Given the description of an element on the screen output the (x, y) to click on. 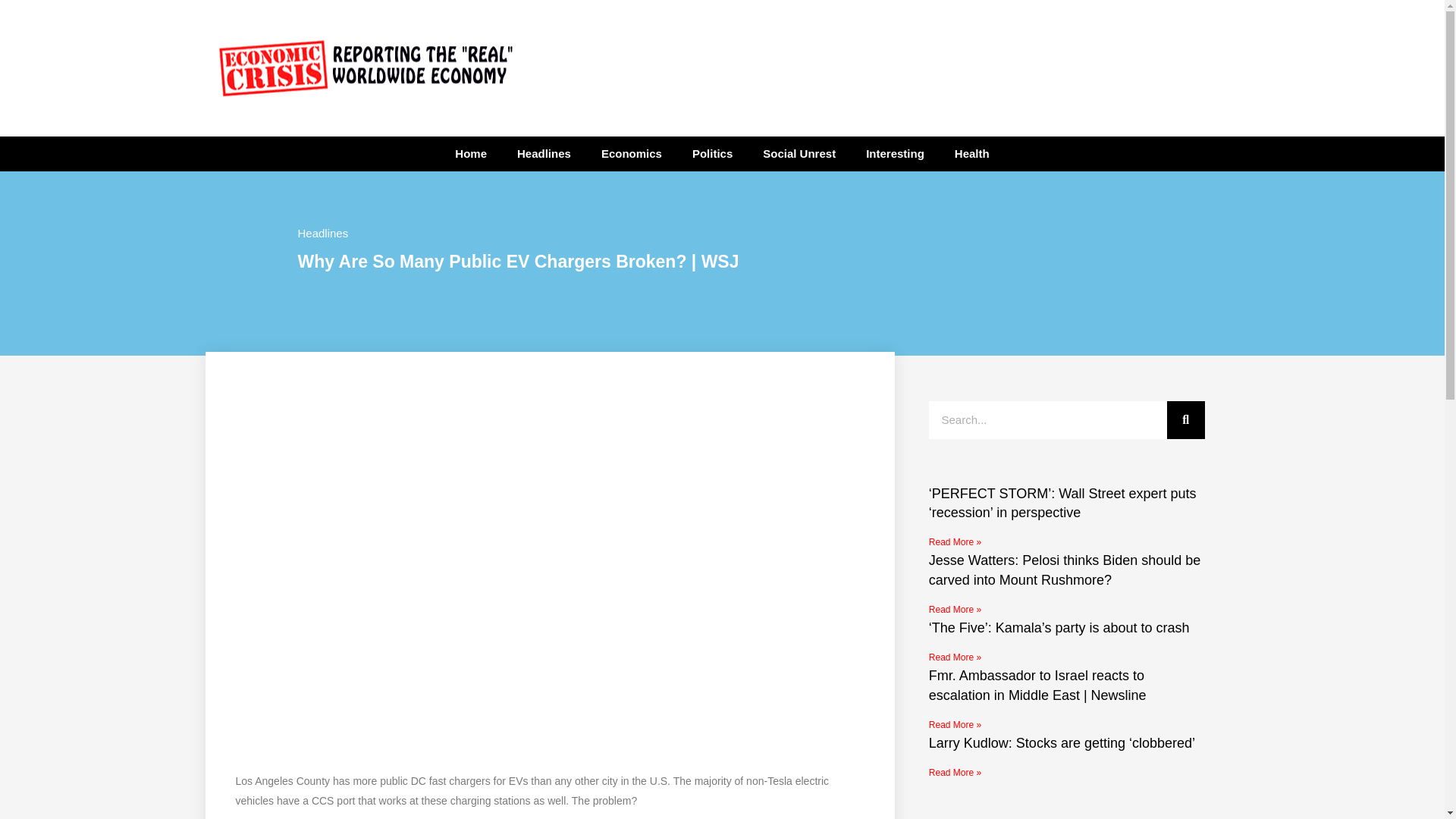
Interesting (894, 153)
Health (971, 153)
Social Unrest (799, 153)
Headlines (322, 232)
Headlines (544, 153)
Economics (631, 153)
Politics (712, 153)
Home (470, 153)
